Given the description of an element on the screen output the (x, y) to click on. 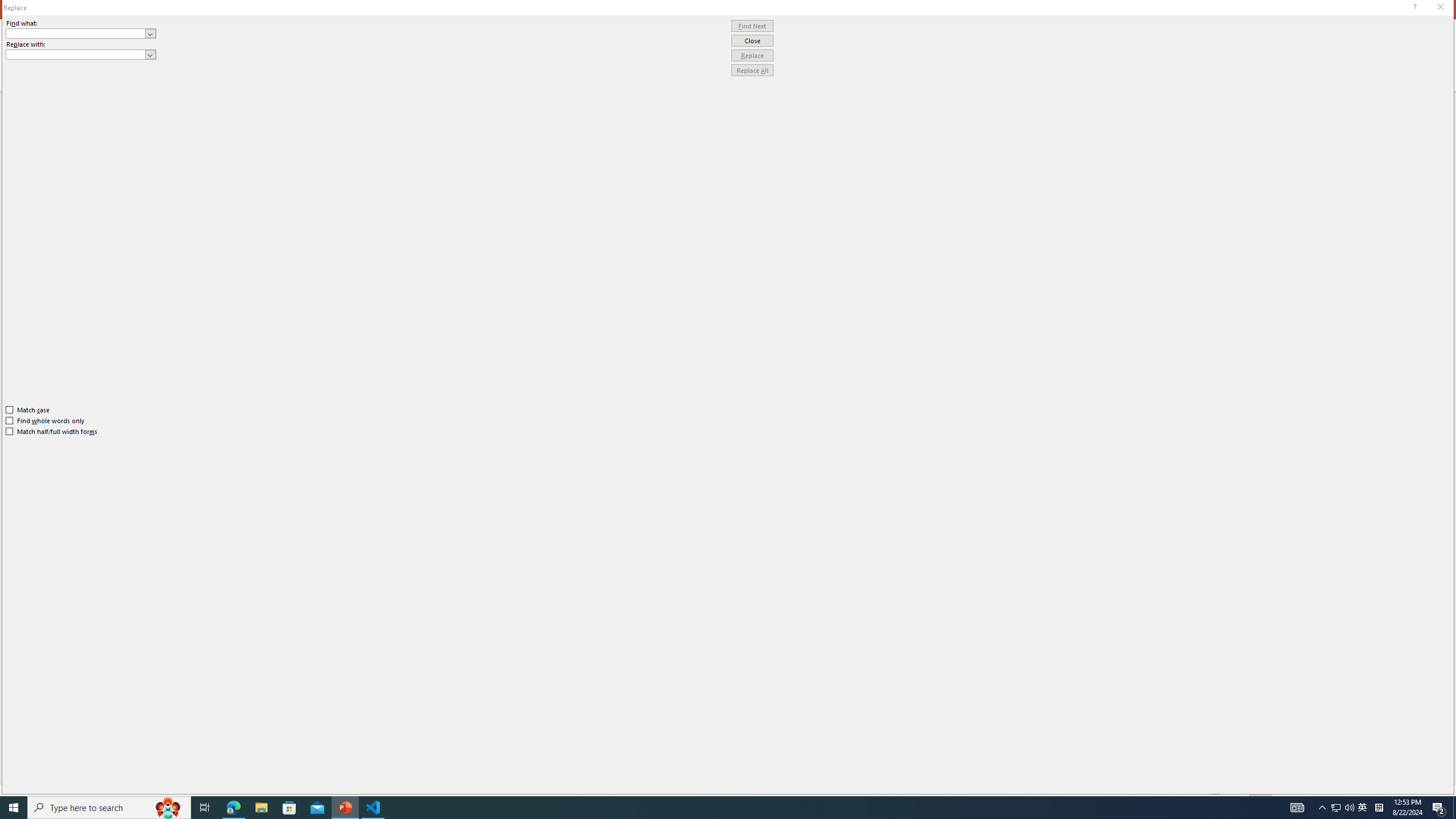
Shape Effects (700, 69)
Match half/full width forms (52, 431)
Shape Fill Orange, Accent 2 (675, 44)
Find what (75, 33)
Context help (1413, 8)
Accessibility Checker Accessibility: Good to go (226, 790)
